Given the description of an element on the screen output the (x, y) to click on. 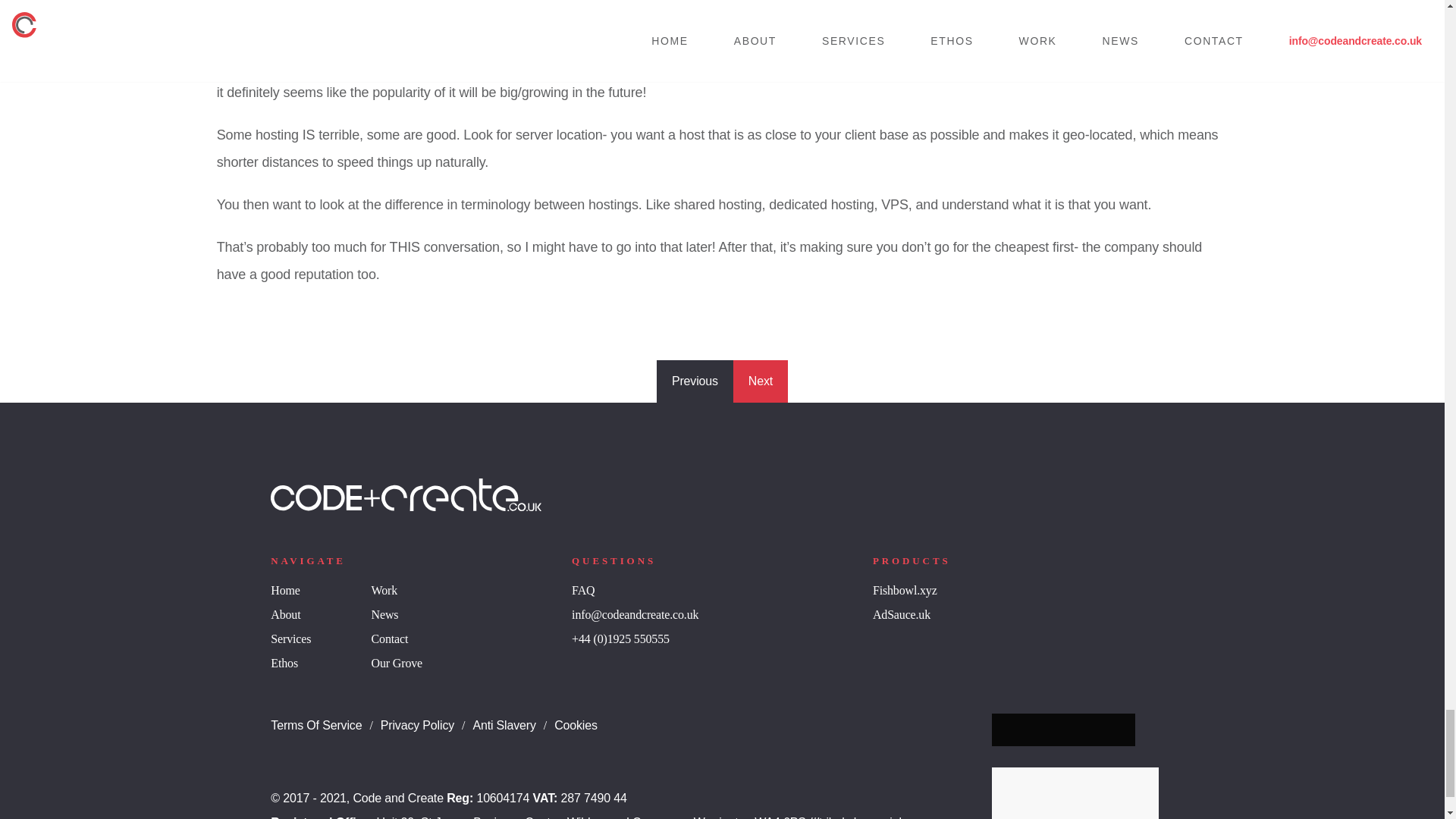
About (284, 614)
Fishbowl.xyz (904, 590)
Next (760, 381)
Cookies (576, 725)
Previous (694, 381)
AdSauce.uk (901, 614)
Ethos (284, 662)
Code and Create Logo (405, 494)
Work (384, 590)
FAQ (583, 590)
